Given the description of an element on the screen output the (x, y) to click on. 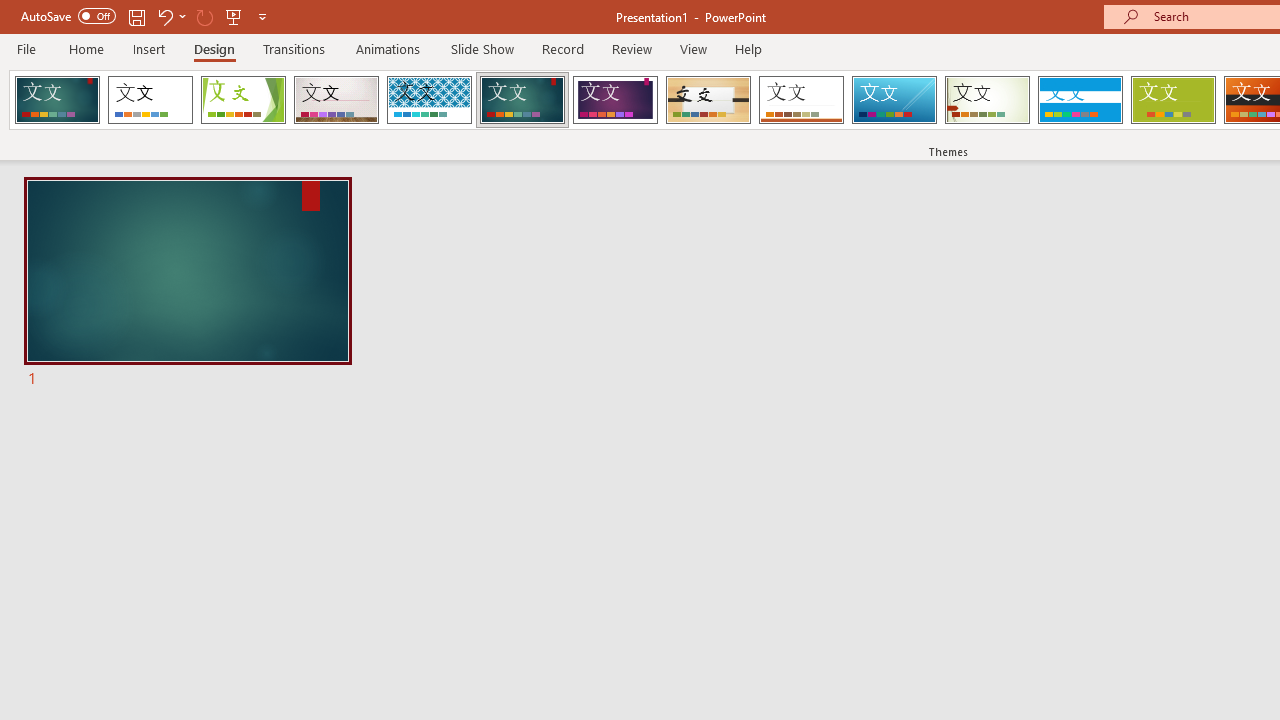
Wisp Loading Preview... (987, 100)
Ion Boardroom Loading Preview... (615, 100)
